Given the description of an element on the screen output the (x, y) to click on. 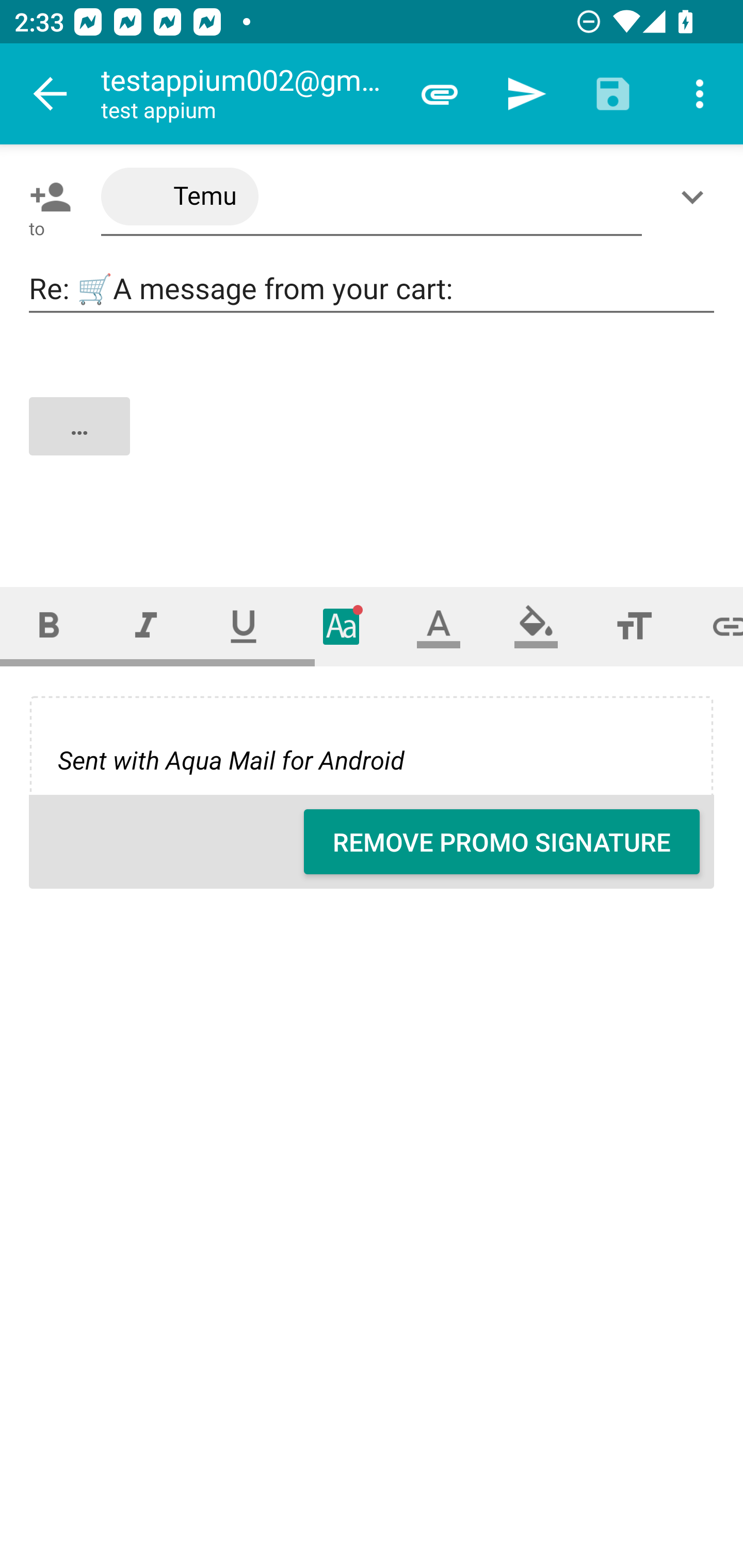
Navigate up (50, 93)
testappium002@gmail.com test appium (248, 93)
Attach (439, 93)
Send (525, 93)
Save (612, 93)
More options (699, 93)
Temu <temu@shop.temuofficial.com>,  (371, 197)
Pick contact: To (46, 196)
Show/Add CC/BCC (696, 196)
Re: 🛒A message from your cart: (371, 288)

…
 (372, 442)
Bold (48, 626)
Italic (145, 626)
Underline (243, 626)
Typeface (font) (341, 626)
Text color (438, 626)
Fill color (536, 626)
Font size (633, 626)
REMOVE PROMO SIGNATURE (501, 841)
